Given the description of an element on the screen output the (x, y) to click on. 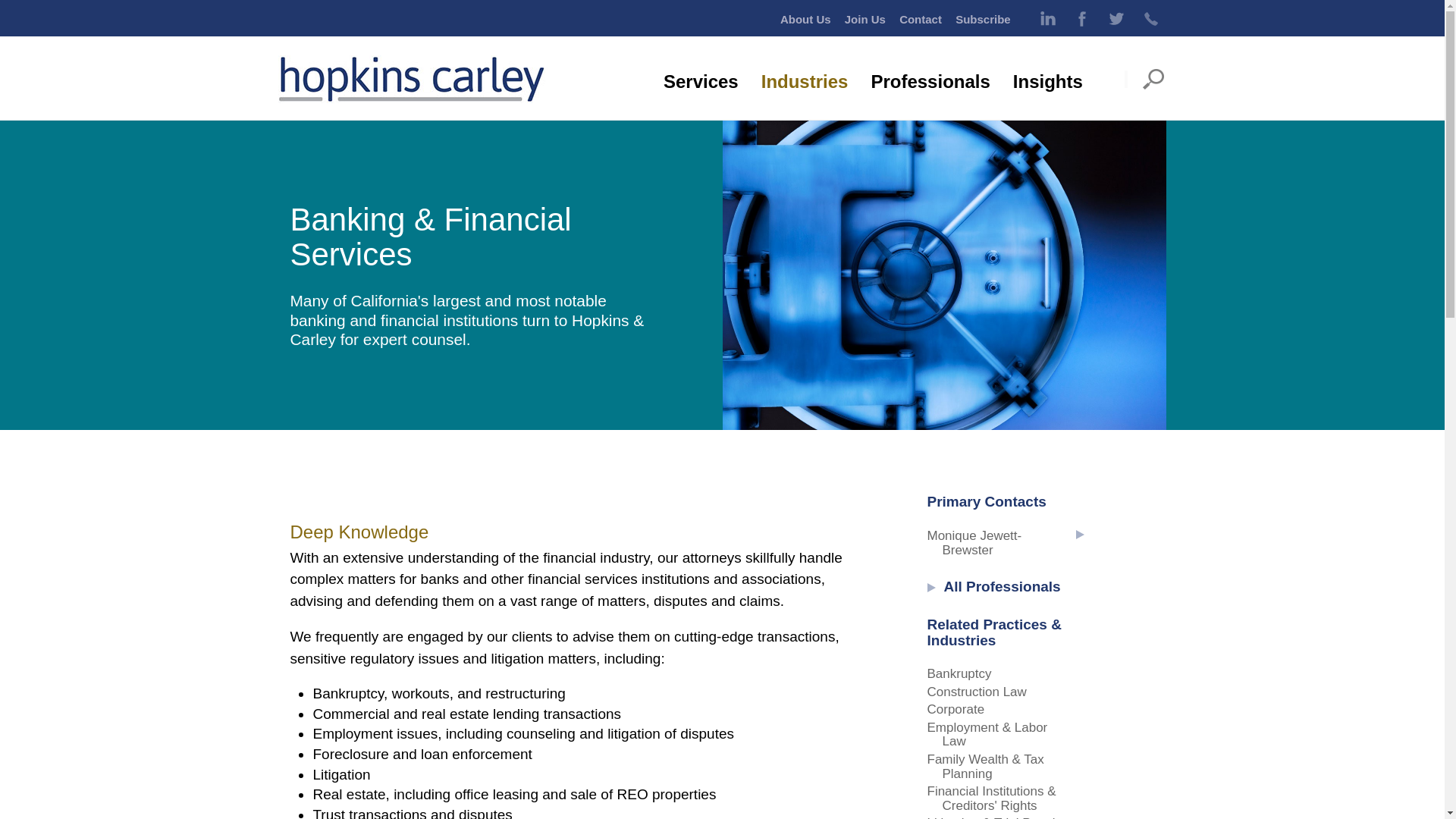
Services (700, 81)
Contact (920, 19)
Join Us (864, 19)
crown-navigation (970, 25)
Subscribe (982, 19)
Services (700, 81)
About Us (805, 19)
About Us (805, 19)
Subscribe (982, 19)
Contact (920, 19)
Join Us (864, 19)
